Given the description of an element on the screen output the (x, y) to click on. 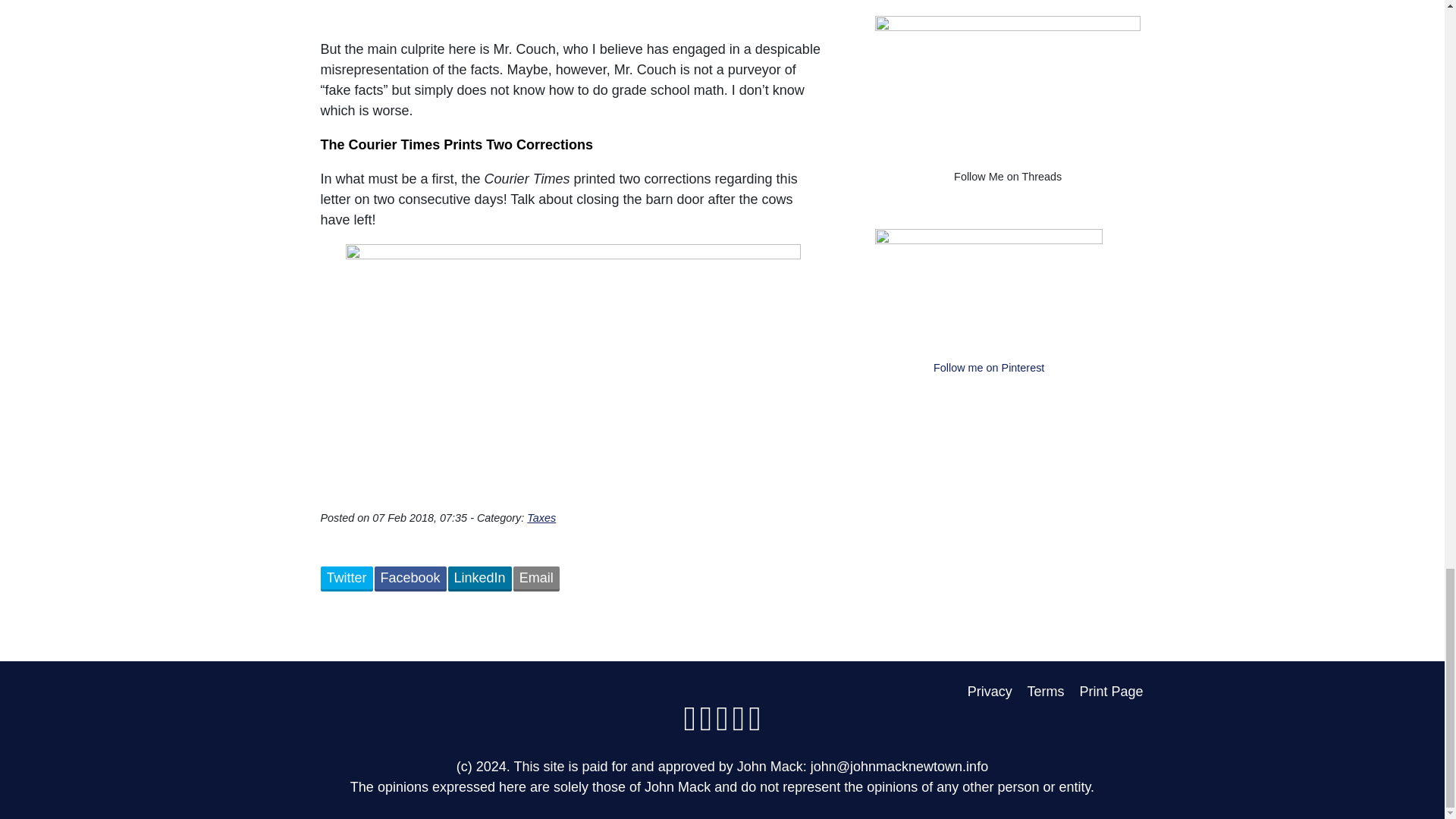
Twitter (346, 578)
LinkedIn (480, 578)
Taxes (541, 517)
Facebook (410, 578)
